Given the description of an element on the screen output the (x, y) to click on. 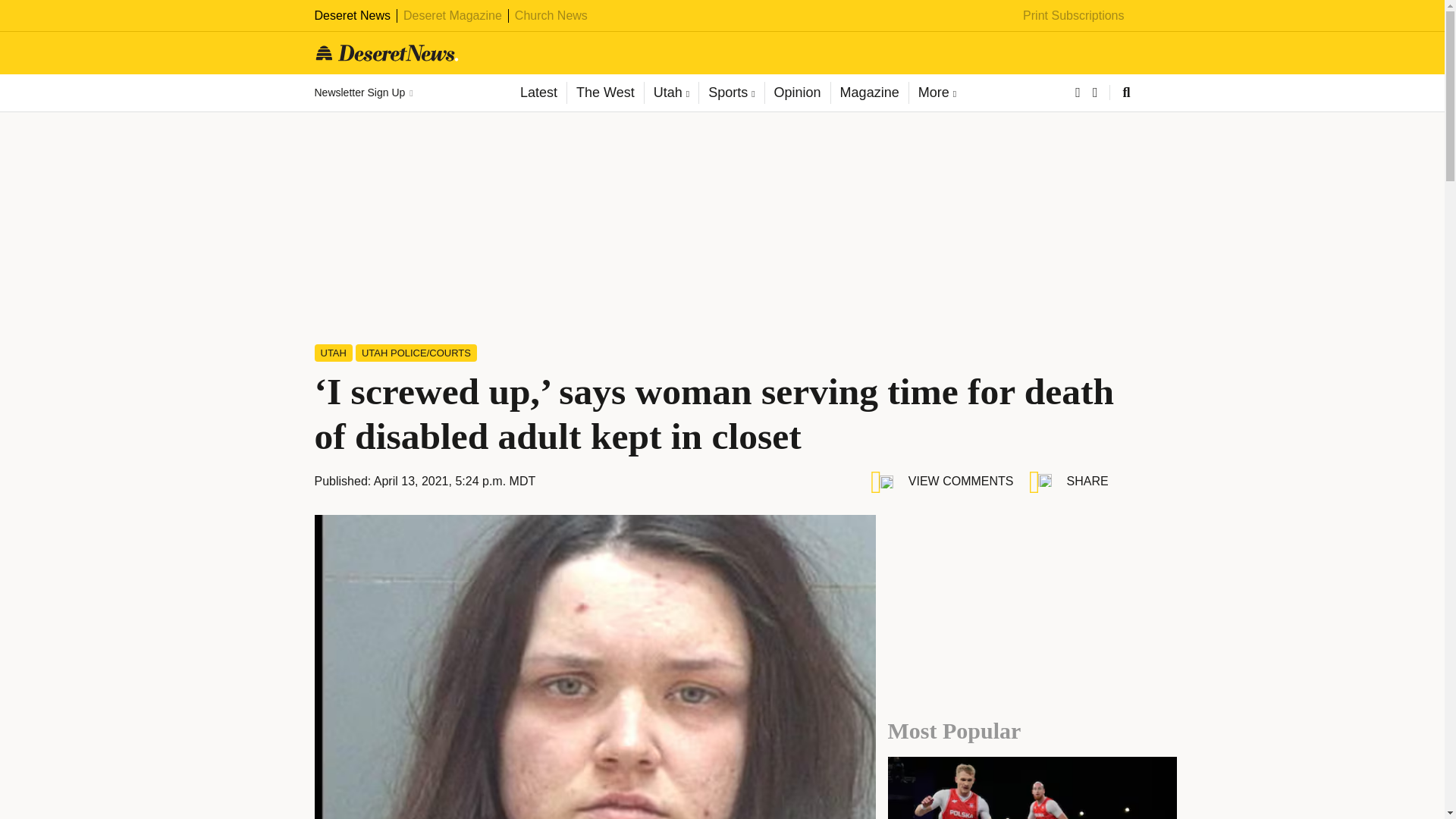
Latest (538, 92)
UTAH (333, 352)
Church News (551, 15)
Deseret News (352, 15)
The West (604, 92)
Sports (730, 92)
Opinion (796, 92)
Deseret Magazine (452, 15)
Newsletter Sign Up (363, 92)
Magazine (868, 92)
Utah (670, 92)
Print Subscriptions (1073, 15)
